Given the description of an element on the screen output the (x, y) to click on. 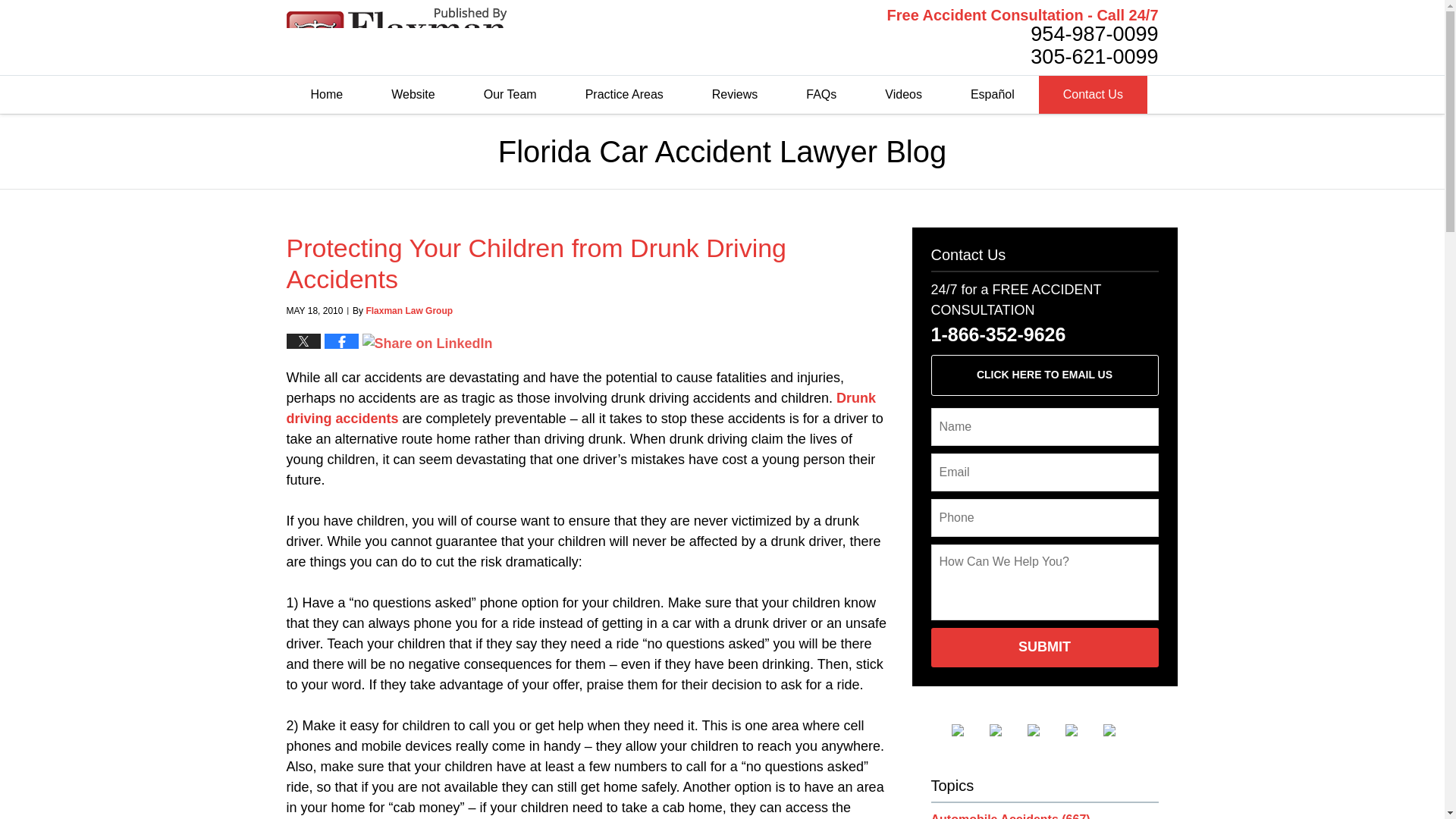
SUBMIT (1044, 647)
FAQs (820, 94)
Videos (903, 94)
Twitter (1005, 729)
CLICK HERE TO EMAIL US (1044, 374)
Facebook (967, 729)
Drunk driving accidents (581, 407)
Home (327, 94)
Feed (1119, 729)
Justia (1081, 729)
Contact Us (1093, 94)
Flaxman Law Group (408, 310)
LinkedIn (1043, 729)
Our Team (510, 94)
Please enter a valid phone number. (1044, 517)
